Given the description of an element on the screen output the (x, y) to click on. 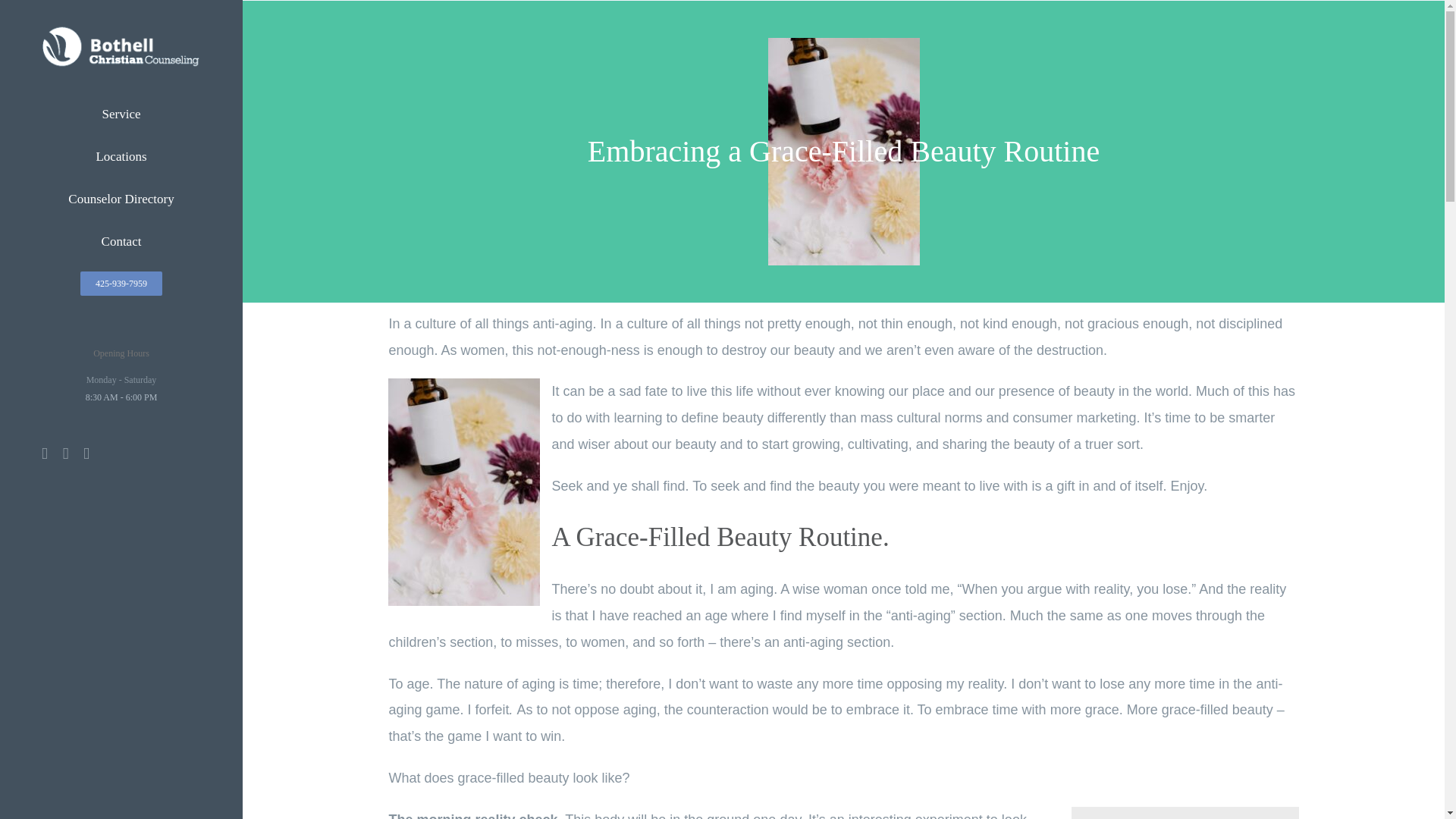
425-939-7959 (121, 283)
Counselor Directory (121, 199)
Locations (121, 156)
Contact (121, 241)
Service (121, 113)
